Given the description of an element on the screen output the (x, y) to click on. 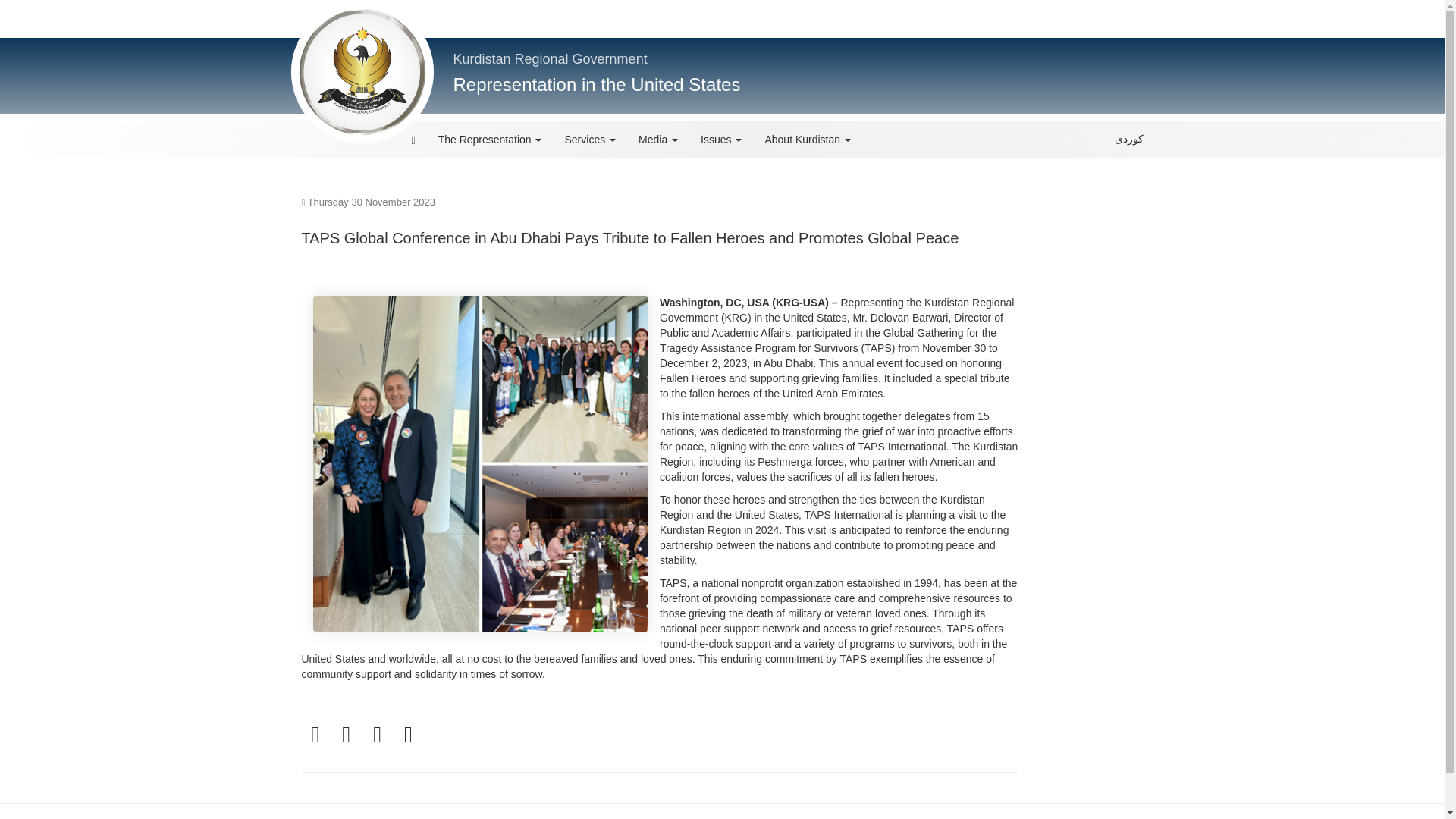
The Representation (489, 139)
Issues (720, 139)
Media (657, 139)
Services (590, 139)
